Given the description of an element on the screen output the (x, y) to click on. 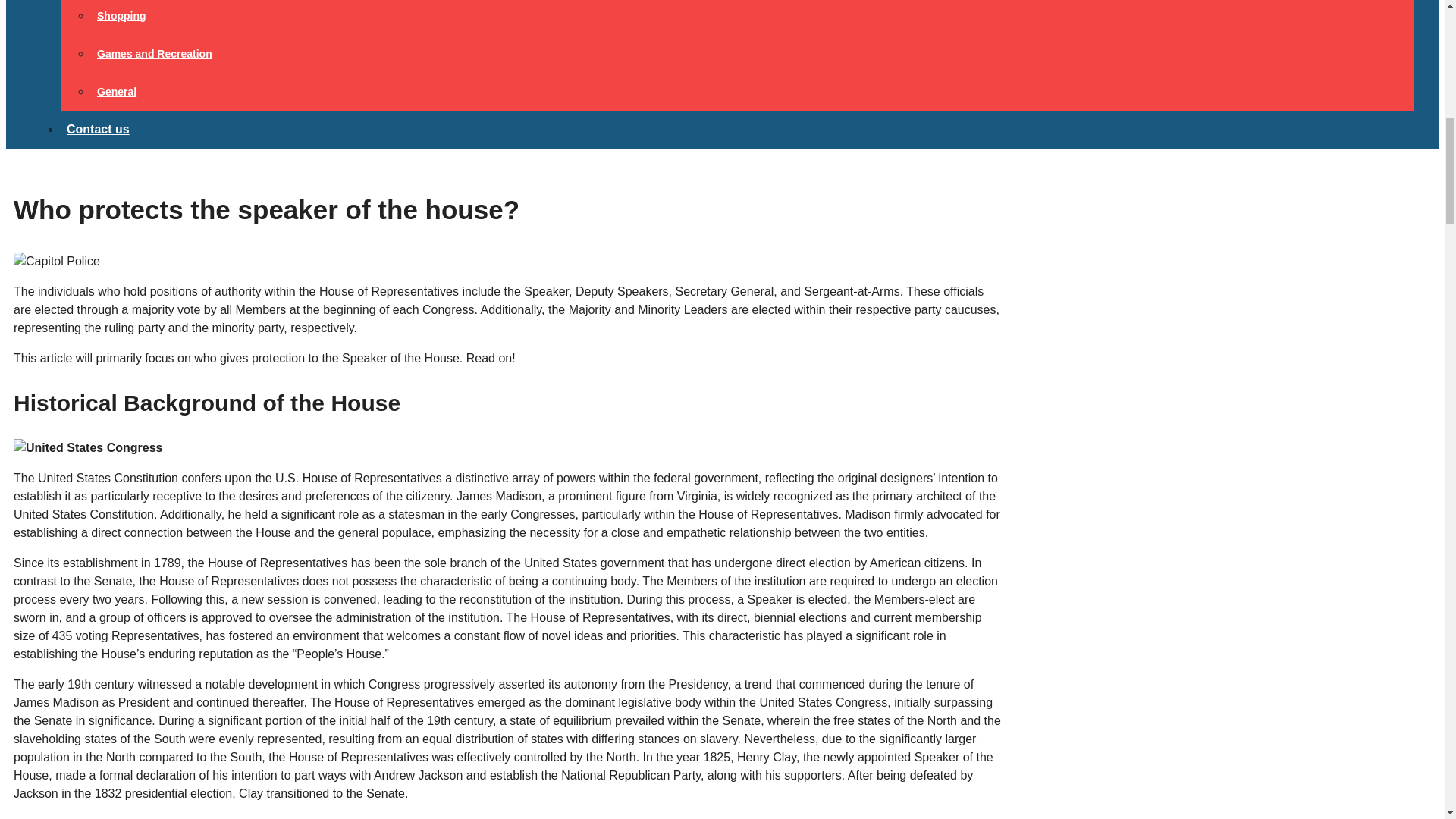
Games and Recreation (154, 53)
General (116, 91)
Contact us (98, 128)
Shopping (121, 15)
